Given the description of an element on the screen output the (x, y) to click on. 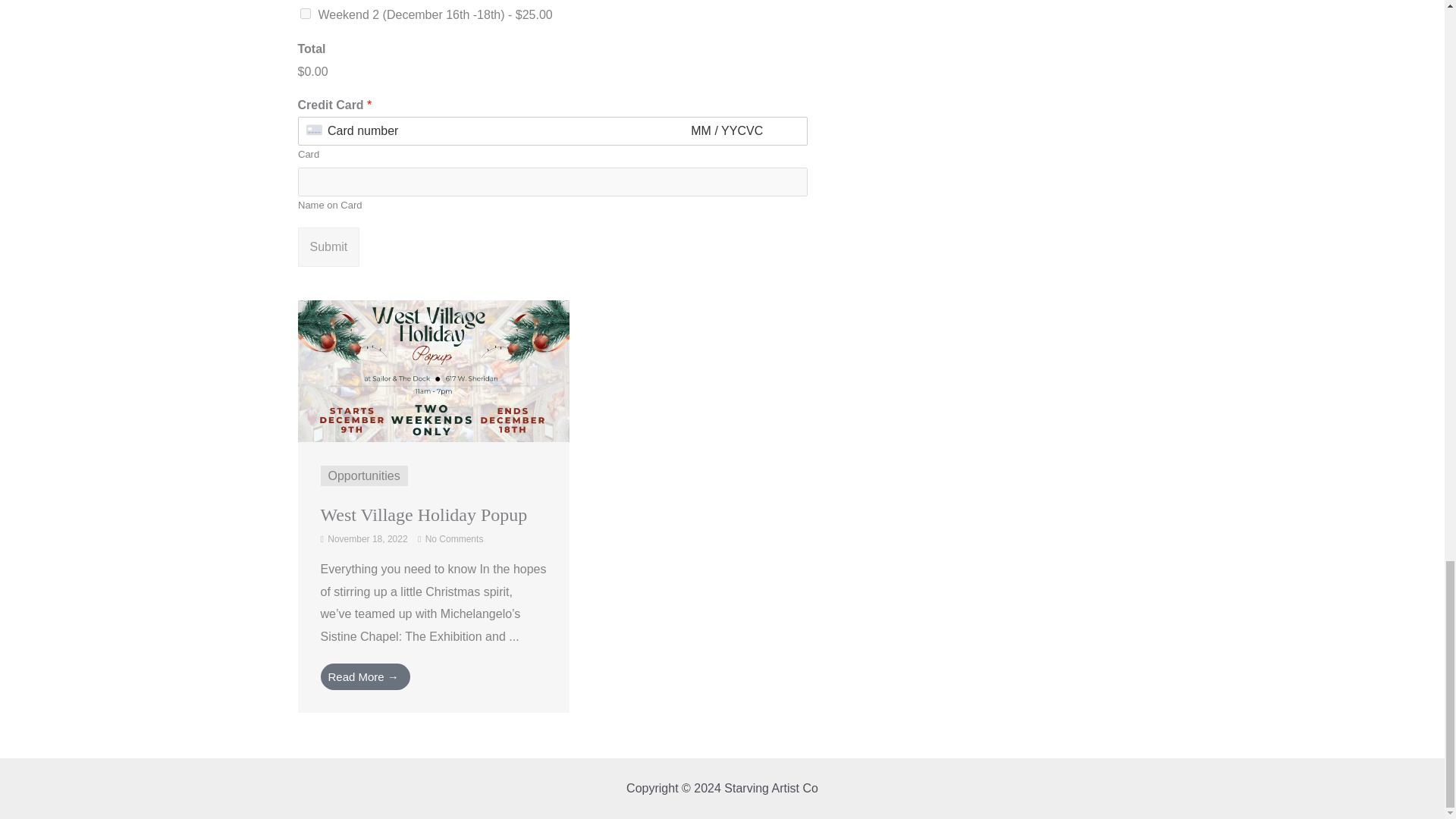
Opportunities (362, 475)
4 (305, 13)
West Village Holiday Popup (433, 369)
Submit (328, 246)
Secure card payment input frame (552, 131)
West Village Holiday Popup (423, 514)
